Given the description of an element on the screen output the (x, y) to click on. 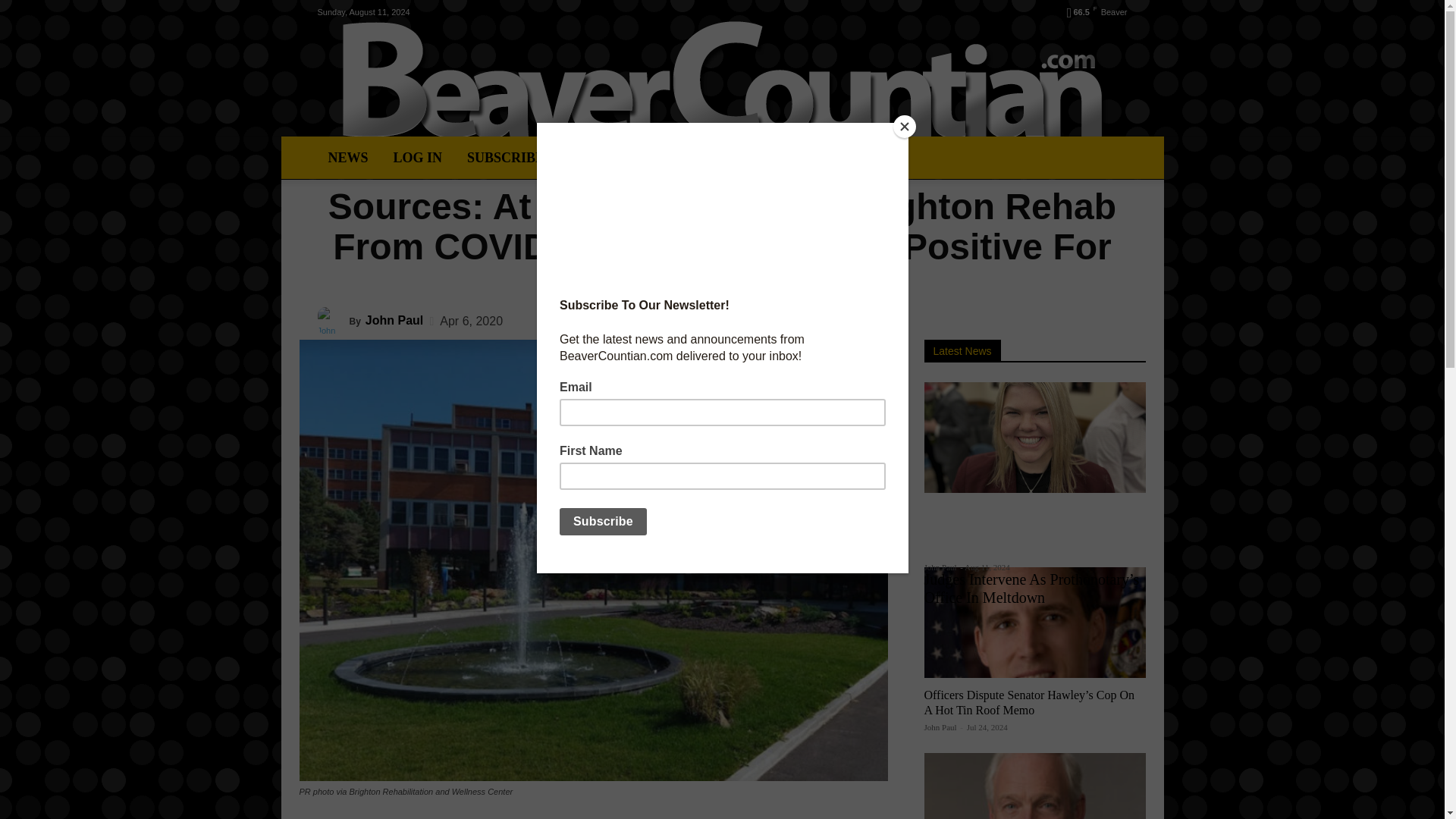
John Paul (333, 320)
NEWS (347, 157)
911 LOGS (600, 157)
ABOUT (679, 157)
LOG IN (417, 157)
John Paul (939, 727)
John Paul (394, 320)
CONTACT (763, 157)
SUBSCRIBE (505, 157)
